Given the description of an element on the screen output the (x, y) to click on. 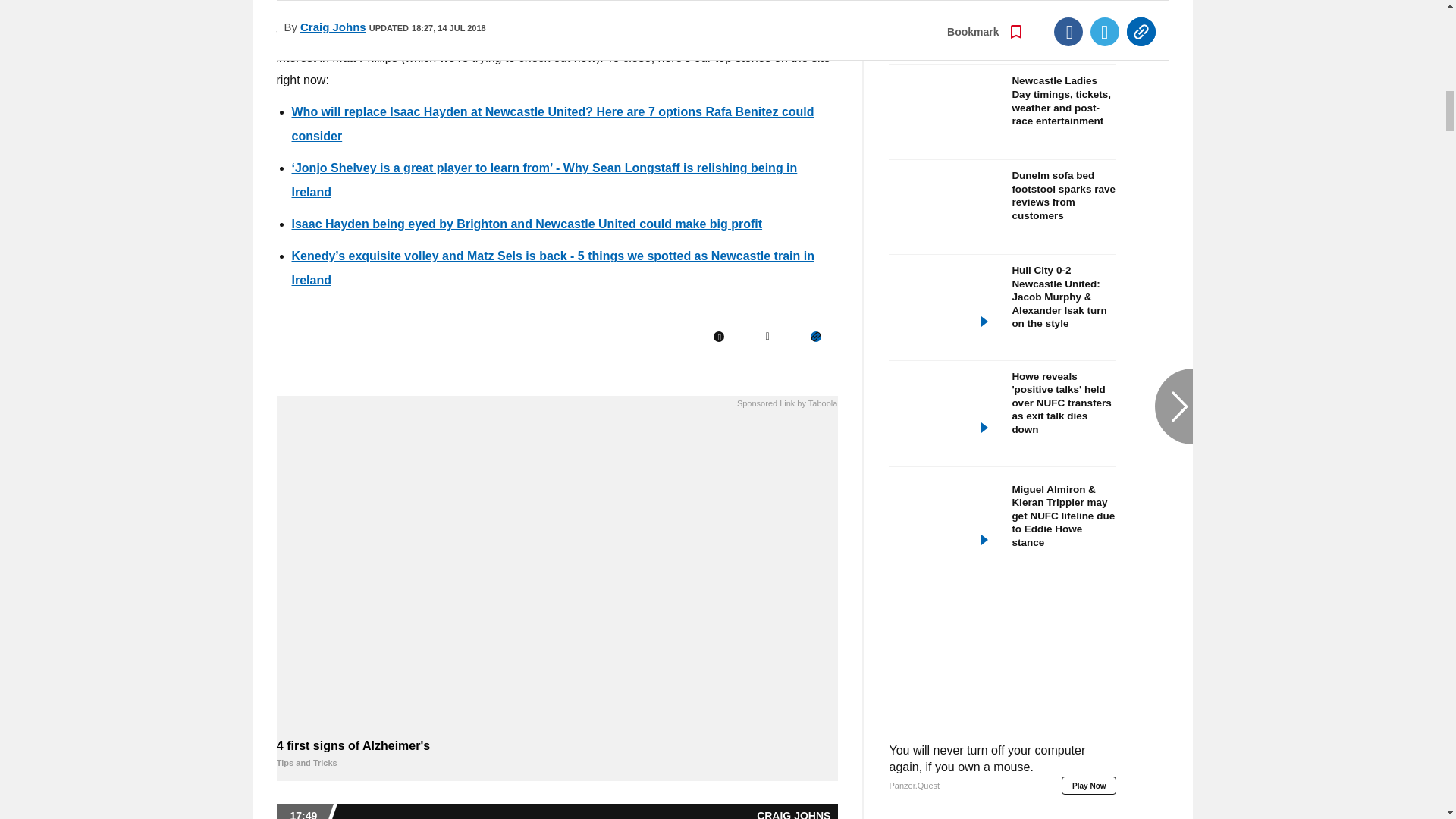
Facebook (718, 336)
